Given the description of an element on the screen output the (x, y) to click on. 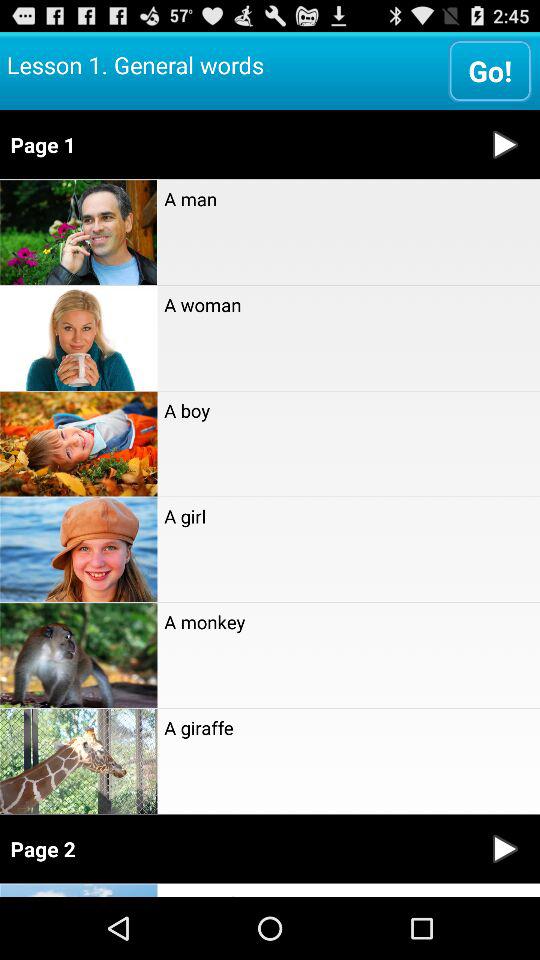
jump to a girl (348, 516)
